Given the description of an element on the screen output the (x, y) to click on. 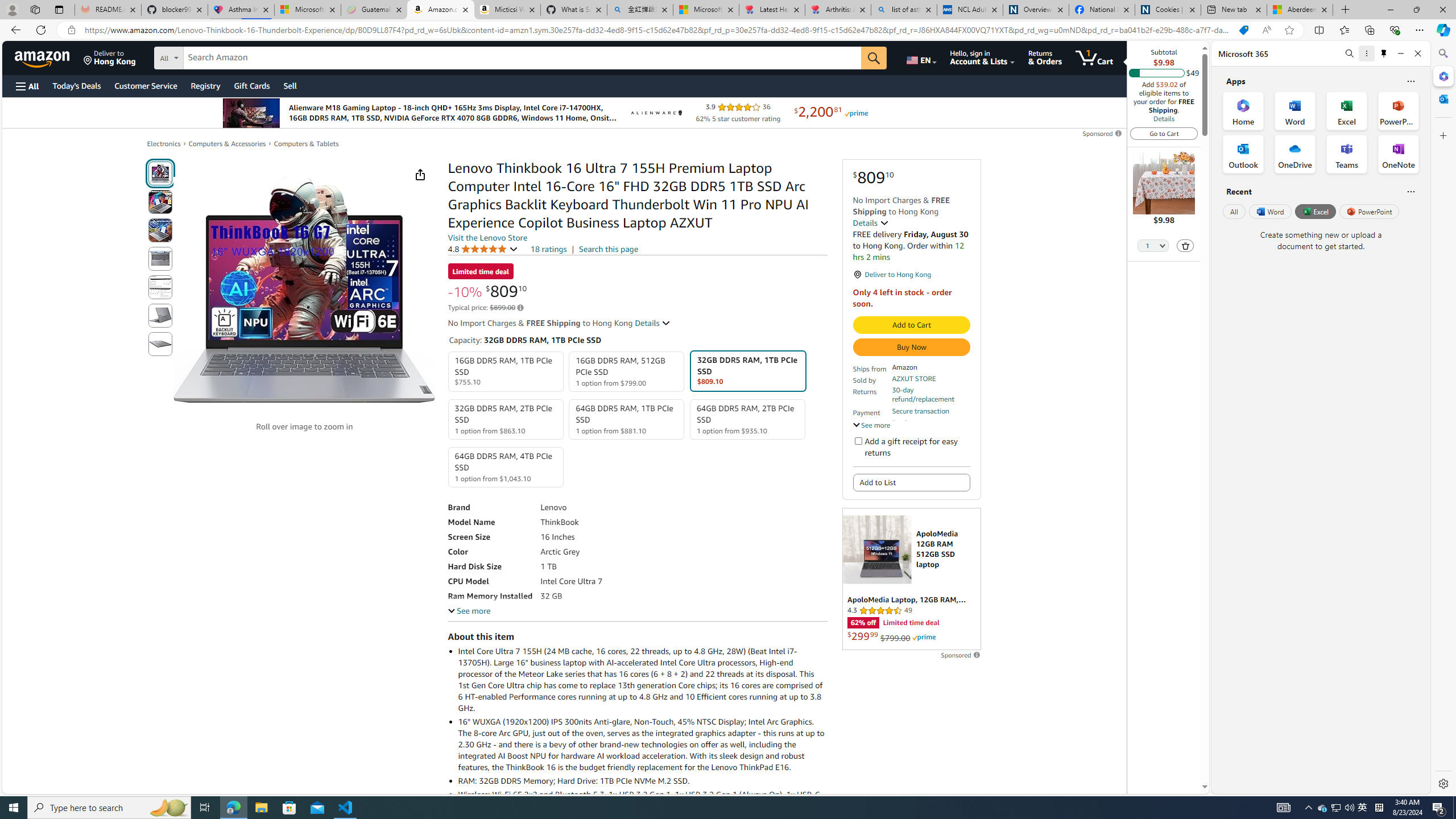
Amazon (43, 57)
Add a gift receipt for easy returns (857, 440)
Computers & Tablets (306, 143)
Prime (923, 637)
64GB DDR5 RAM, 1TB PCIe SSD 1 option from $881.10 (626, 418)
Go (873, 57)
